Given the description of an element on the screen output the (x, y) to click on. 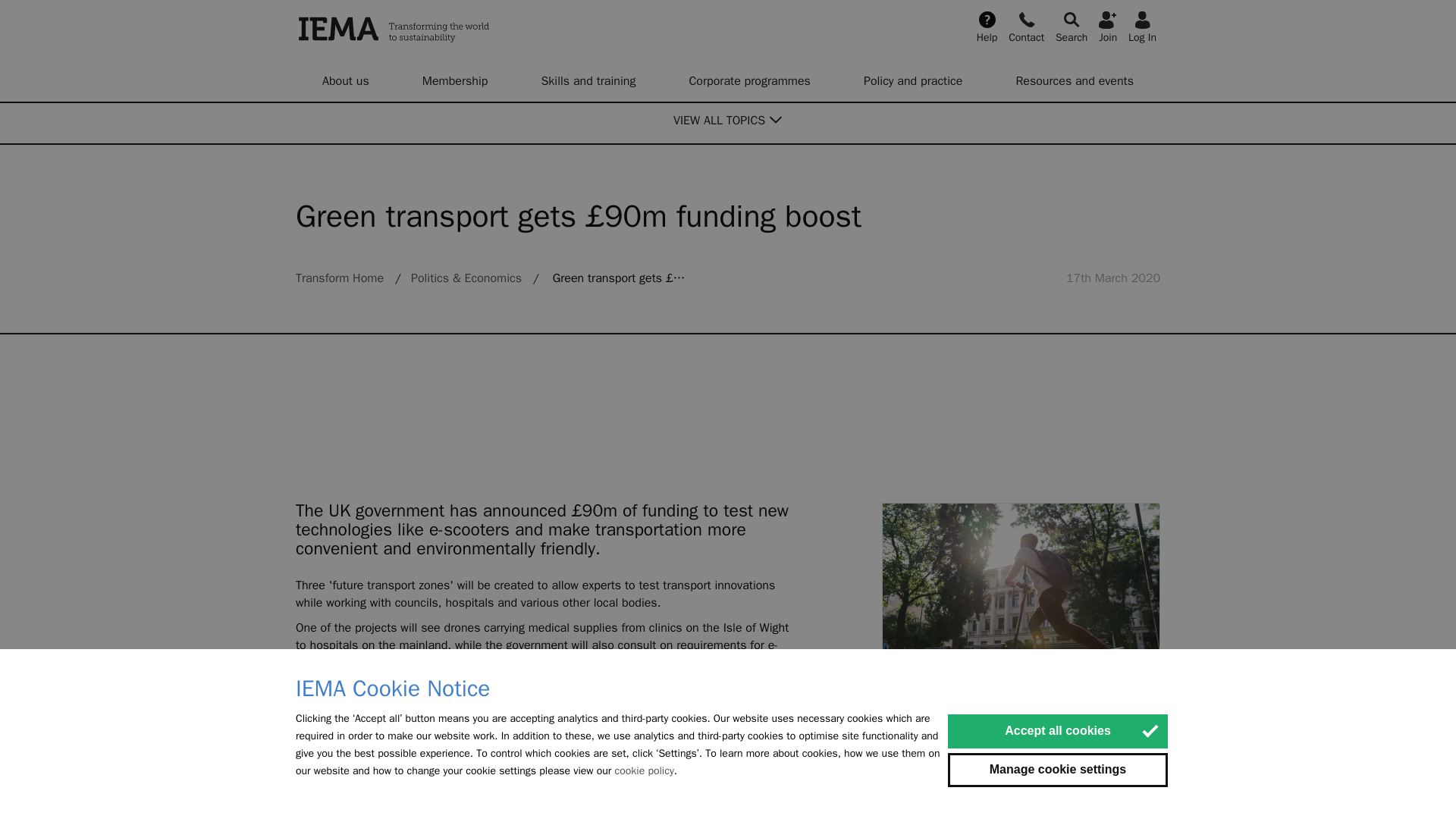
Contact (1026, 26)
Membership (455, 79)
About us (345, 79)
IEMA (470, 28)
